Given the description of an element on the screen output the (x, y) to click on. 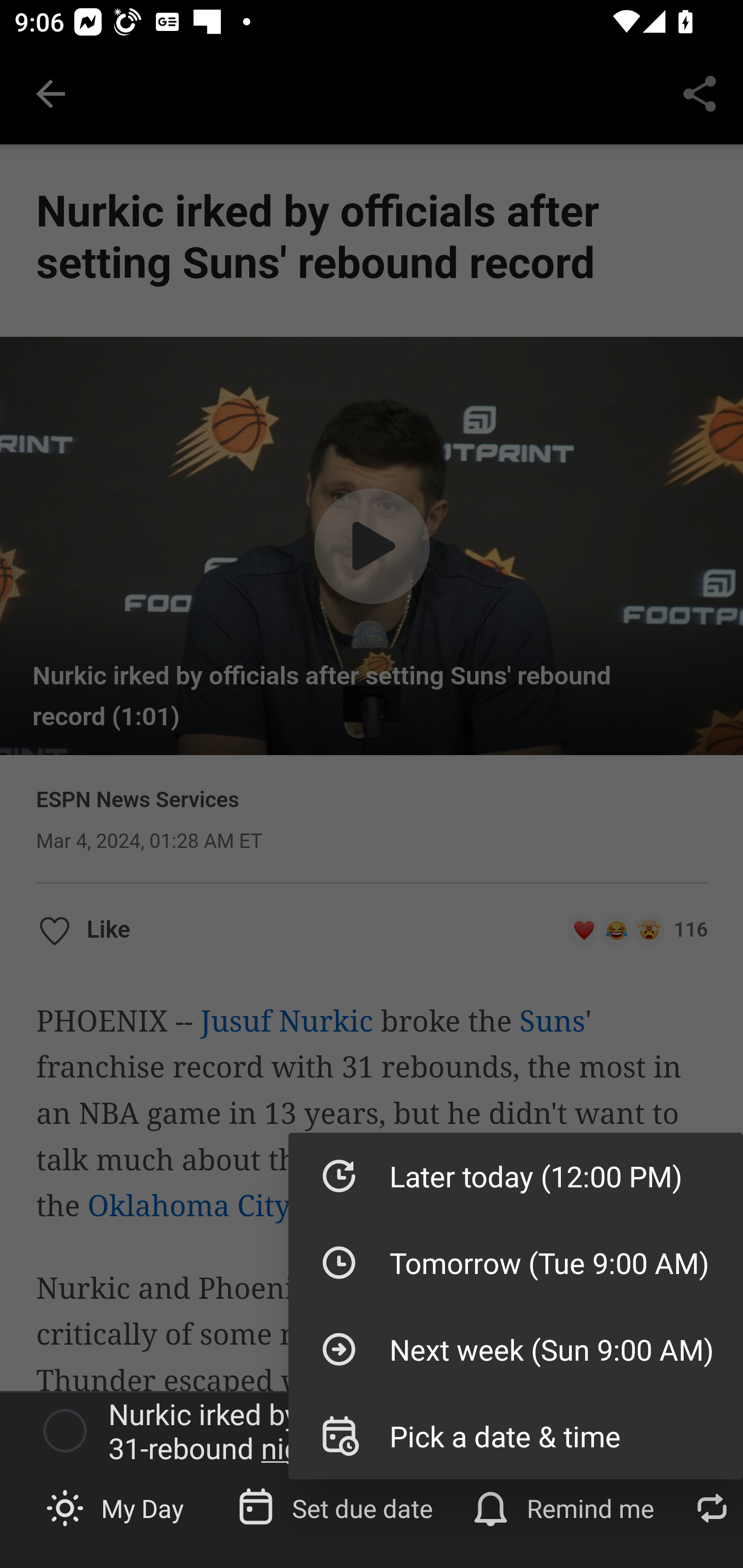
Pick a date & time4 in 4 Pick a date & time (515, 1435)
